Given the description of an element on the screen output the (x, y) to click on. 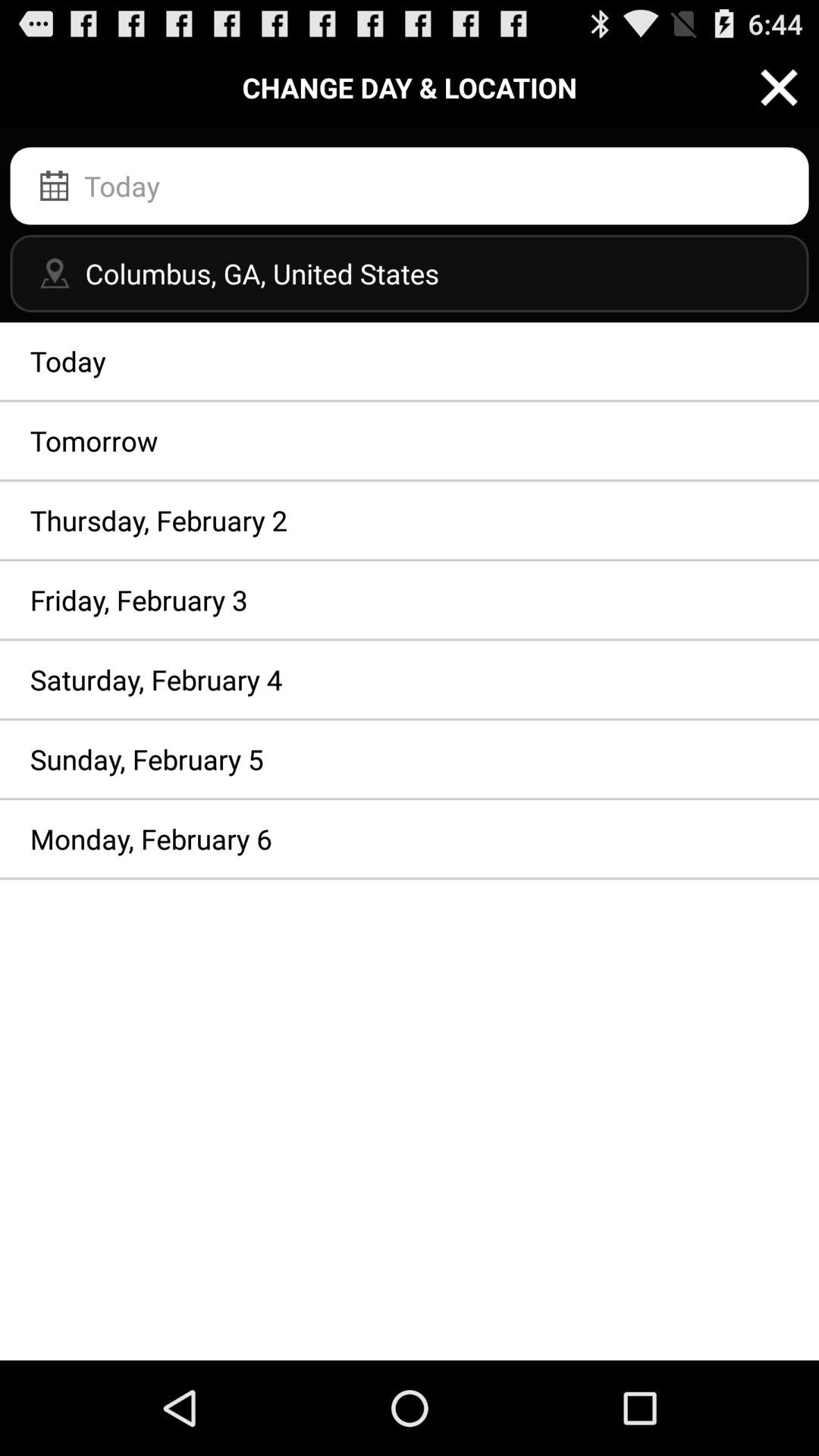
turn off the tomorrow icon (409, 440)
